Given the description of an element on the screen output the (x, y) to click on. 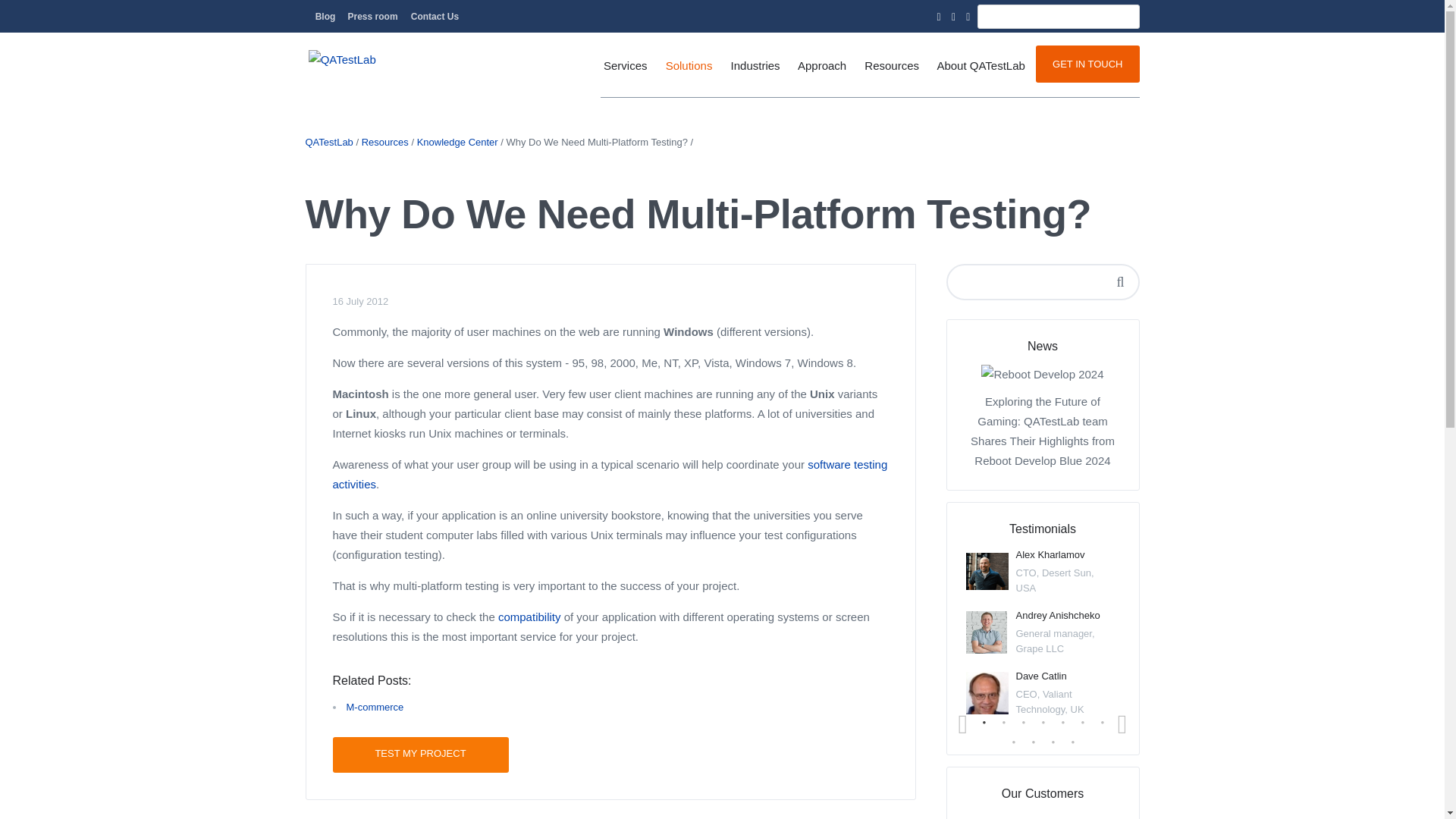
Performance Testing (701, 302)
Regression Testing (701, 196)
Functional Testing (701, 170)
Andrey Anishcheko, General manager, Grape LLC (987, 631)
Acceptance Testing (915, 275)
Integration Testing (701, 275)
Blog (325, 16)
Voice Technologies (1122, 222)
Independent Testing (1330, 311)
M-commerce (1122, 249)
Localization Testing (915, 196)
Codeless Testing Tools (1122, 275)
Managed Testing (1330, 203)
